Given the description of an element on the screen output the (x, y) to click on. 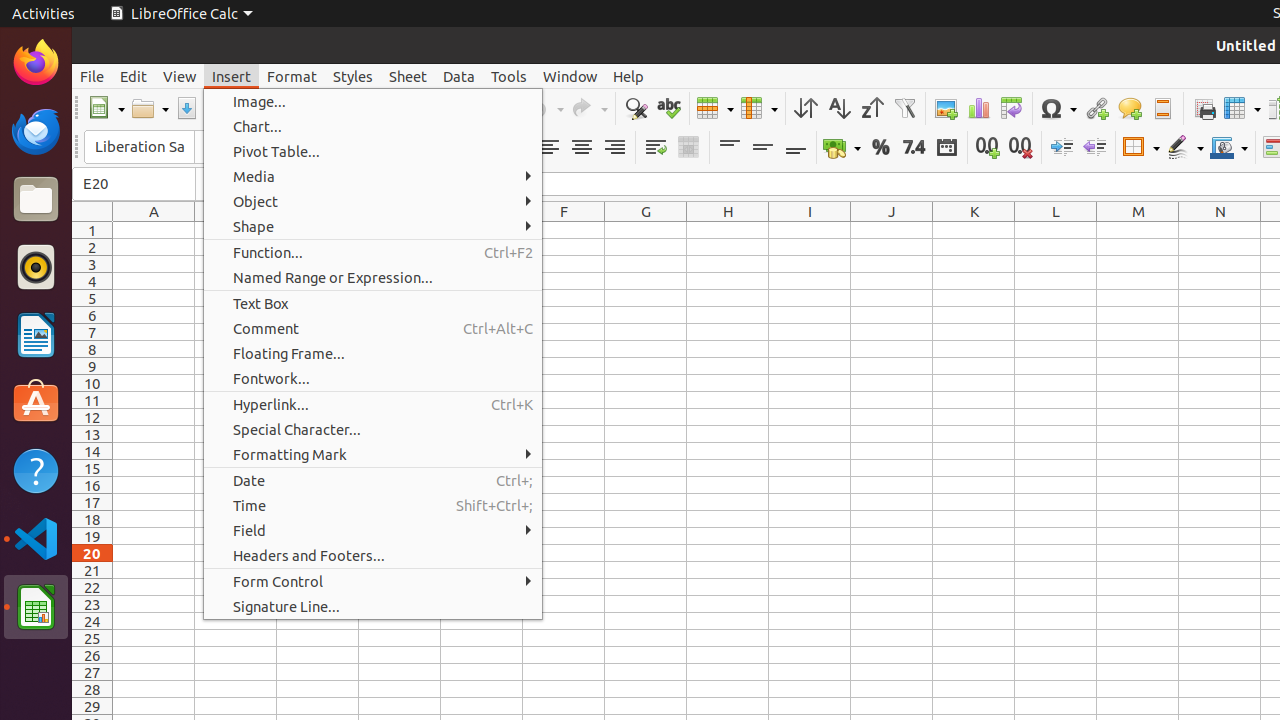
Hyperlink Element type: toggle-button (1096, 108)
Image... Element type: menu-item (373, 101)
Align Bottom Element type: push-button (795, 147)
I1 Element type: table-cell (810, 230)
Column Element type: push-button (759, 108)
